Given the description of an element on the screen output the (x, y) to click on. 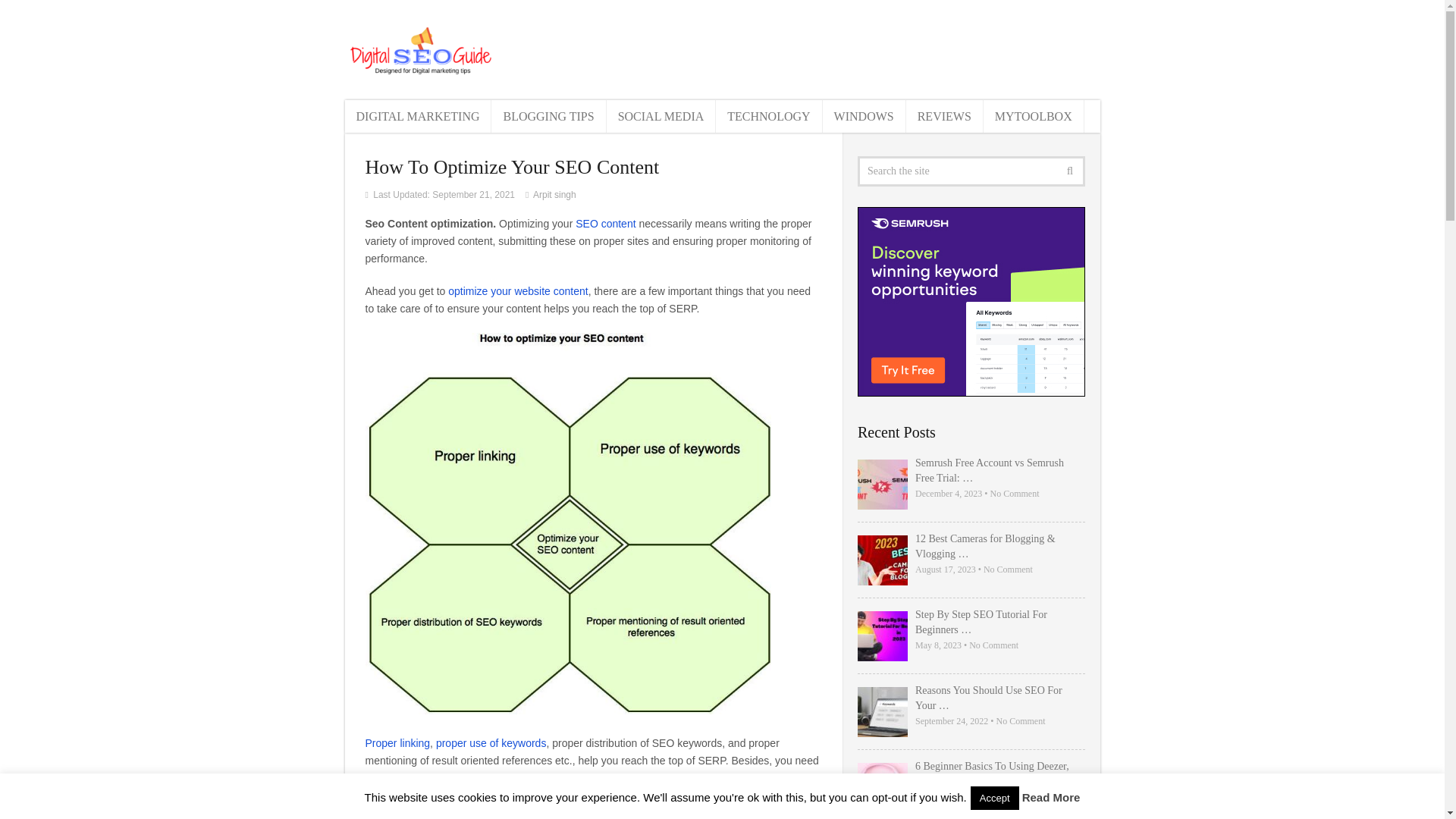
Proper linking (397, 743)
Arpit singh (554, 194)
SEO content (604, 223)
optimize your website content (518, 291)
SOCIAL MEDIA (661, 115)
proper use of keywords (491, 743)
WINDOWS (863, 115)
BLOGGING TIPS (548, 115)
REVIEWS (944, 115)
